Given the description of an element on the screen output the (x, y) to click on. 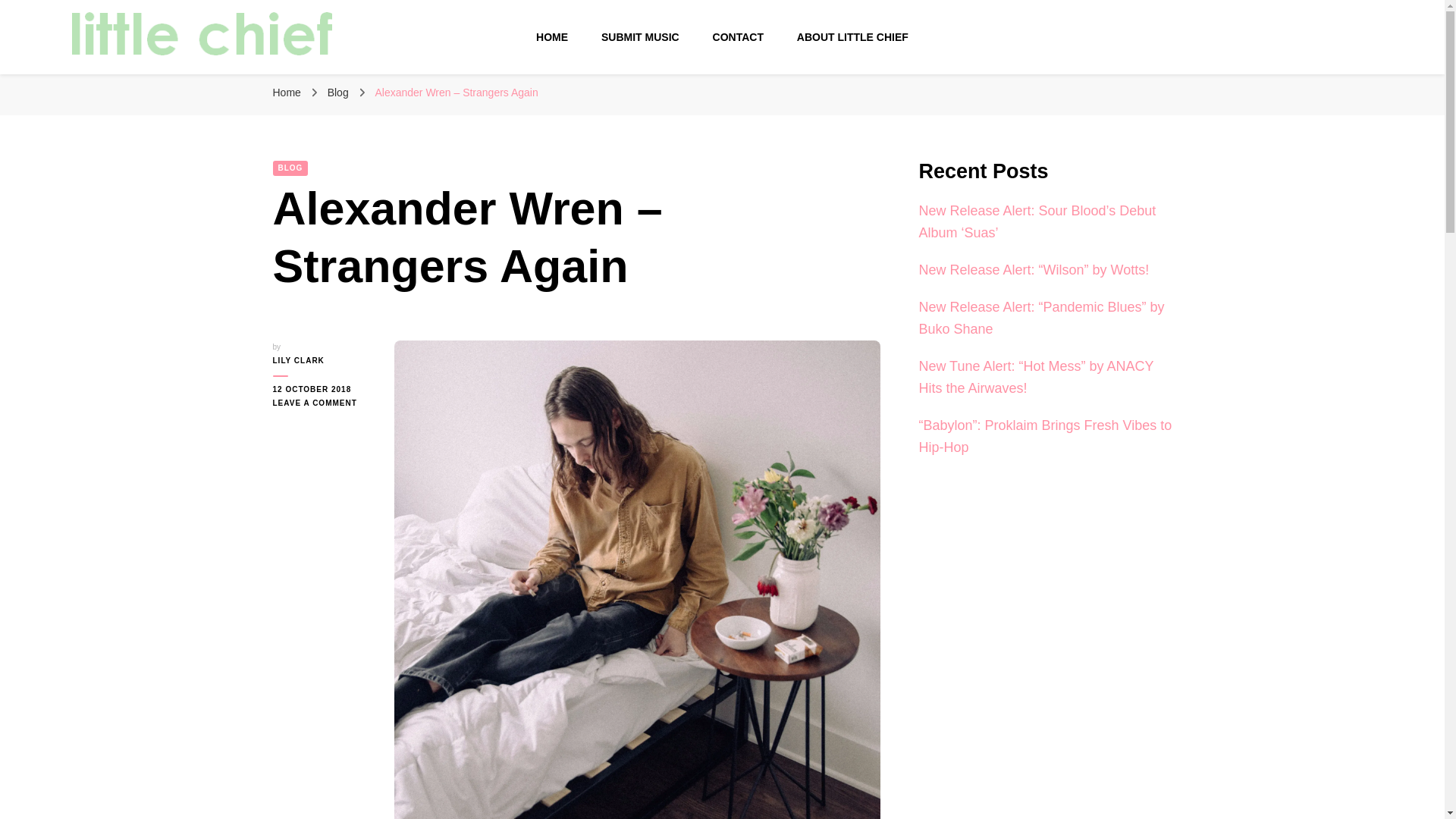
BLOG (290, 168)
LILY CLARK (322, 360)
Home (287, 92)
12 OCTOBER 2018 (322, 389)
little chief (129, 78)
HOME (551, 37)
ABOUT LITTLE CHIEF (852, 37)
SUBMIT MUSIC (640, 37)
Blog (339, 92)
CONTACT (737, 37)
